Given the description of an element on the screen output the (x, y) to click on. 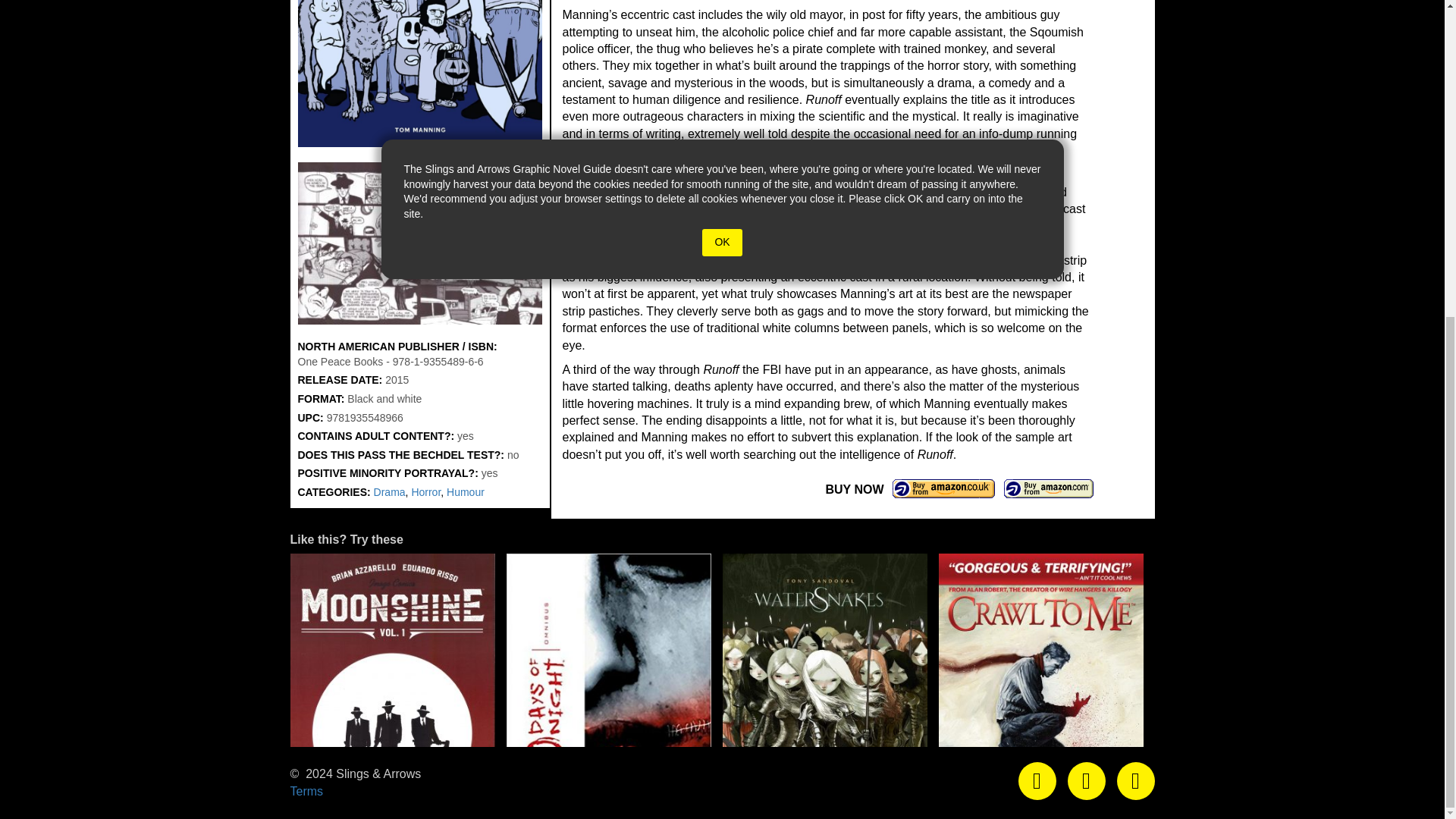
Humour (465, 491)
Drama (390, 491)
OK (721, 242)
Horror (425, 491)
SAMPLE IMAGE  (419, 243)
